Given the description of an element on the screen output the (x, y) to click on. 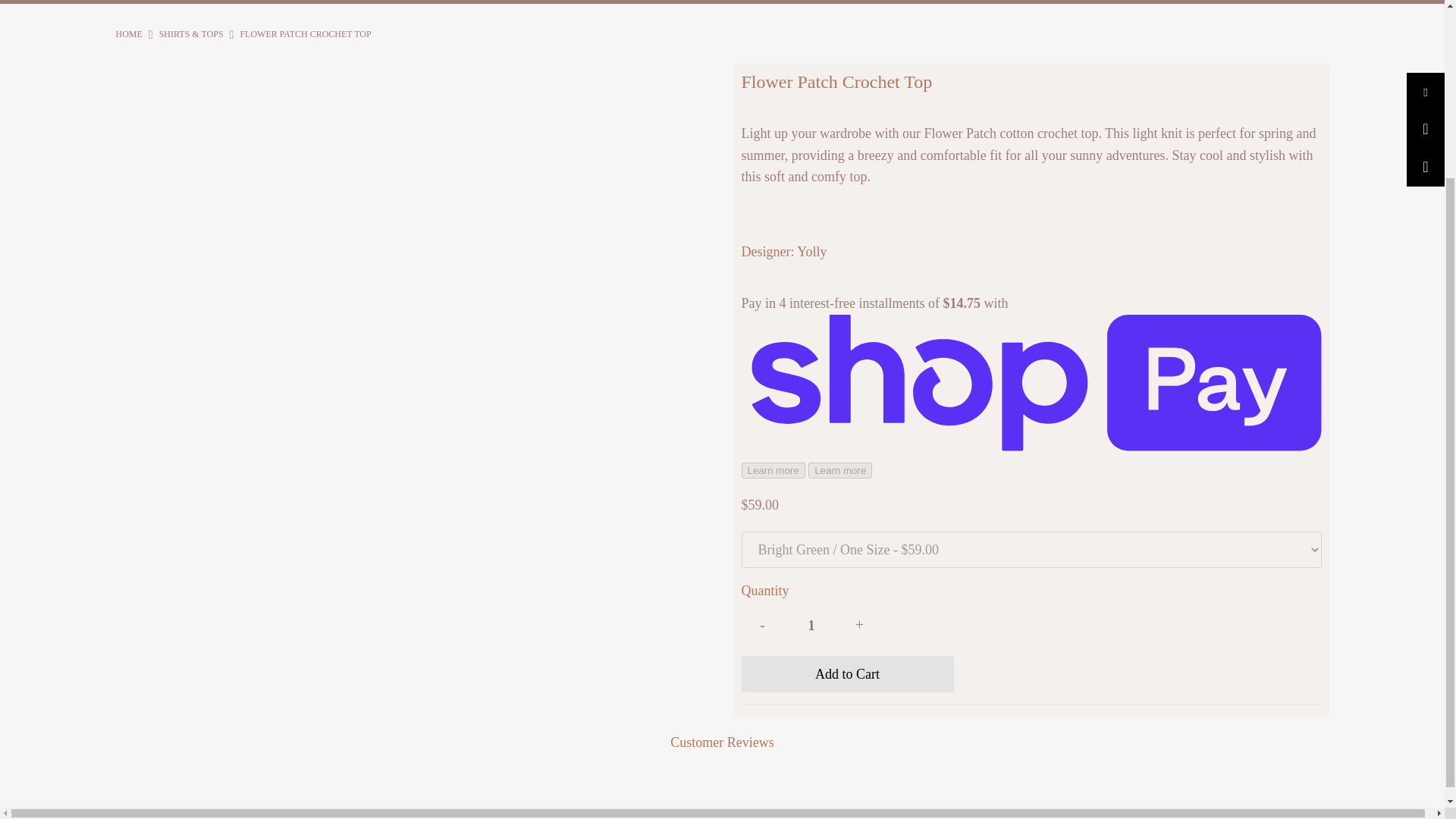
Add to Cart (847, 674)
1 (811, 625)
